Given the description of an element on the screen output the (x, y) to click on. 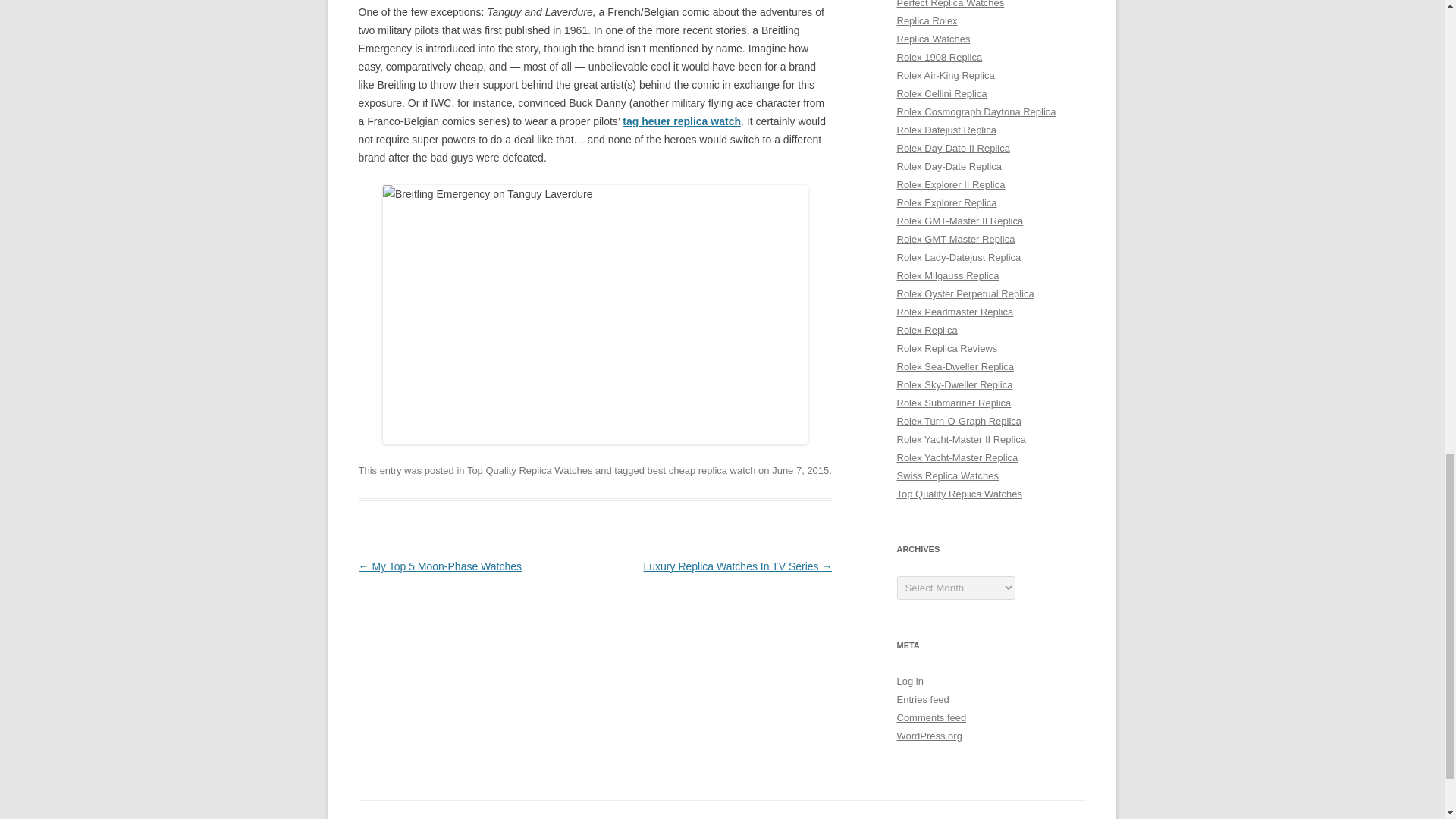
Replica Watches (932, 39)
Perfect Replica Watches (950, 4)
tag heuer replica watch (682, 121)
10:38 pm (799, 470)
Rolex Day-Date II Replica (952, 147)
Rolex Cellini Replica (941, 93)
Rolex Air-King Replica (945, 75)
June 7, 2015 (799, 470)
best cheap replica watch (701, 470)
tag heuer replica watch (682, 121)
Rolex 1908 Replica (938, 57)
Rolex Cosmograph Daytona Replica (975, 111)
Top Quality Replica Watches (529, 470)
Replica Rolex (926, 20)
Rolex Datejust Replica (945, 129)
